Given the description of an element on the screen output the (x, y) to click on. 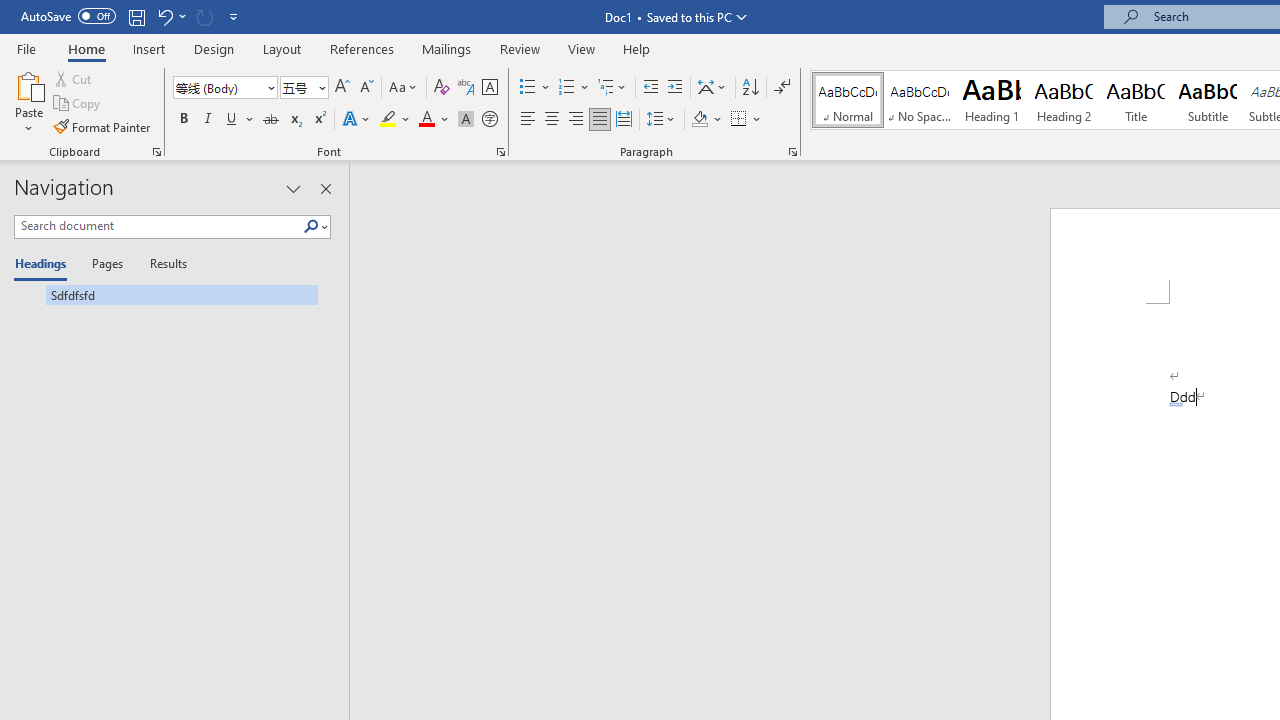
Undo AutoCorrect (170, 15)
Action: Undo Auto Actions (1175, 403)
